Given the description of an element on the screen output the (x, y) to click on. 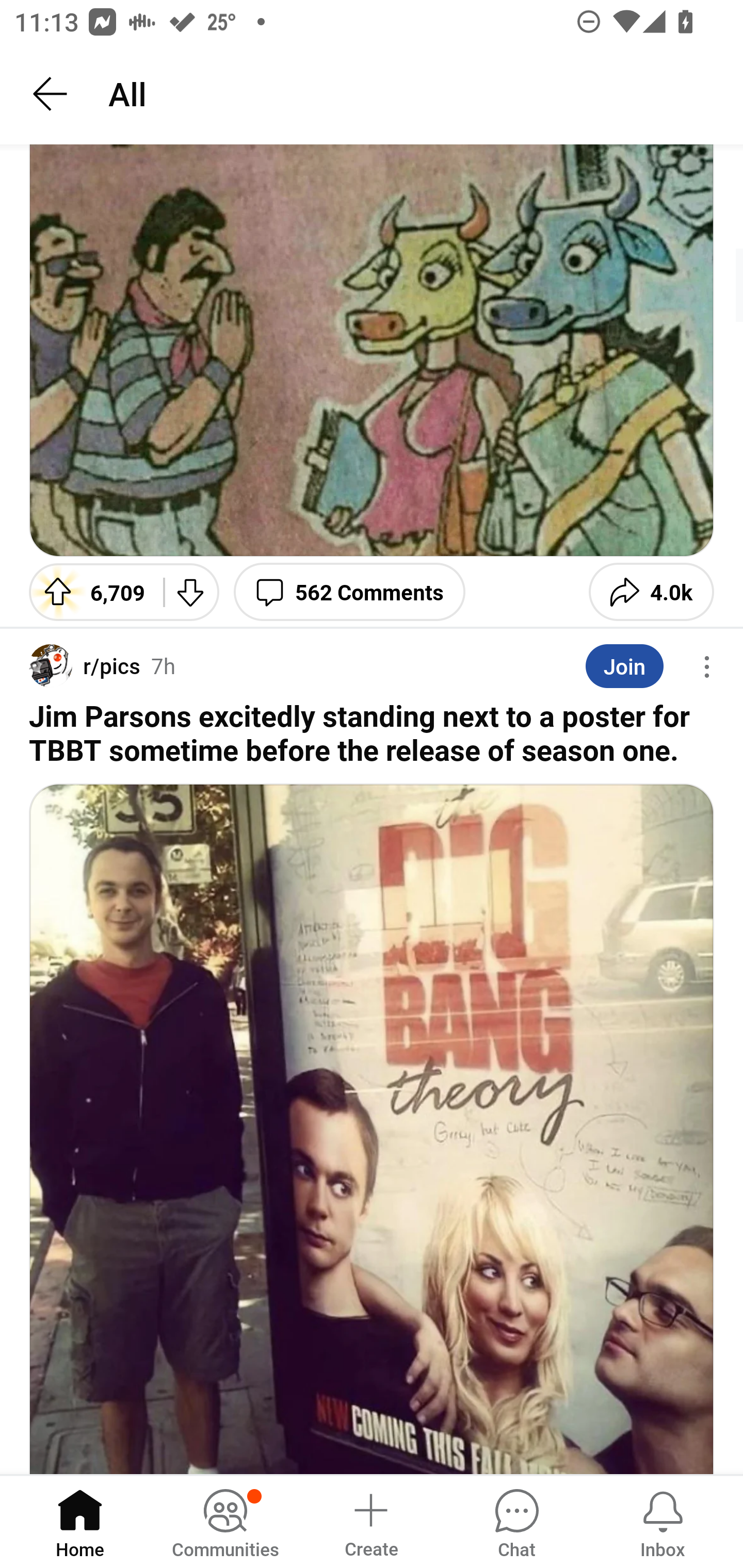
Image (371, 350)
Upvote 6,709 (88, 591)
Downvote (191, 591)
562 Comments (349, 591)
Share 4.0k (651, 591)
Avatar r/pics (84, 666)
Join (624, 665)
Overflow menu (706, 667)
Image (371, 1128)
Home (80, 1520)
Communities, has notifications Communities (225, 1520)
Create a post Create (370, 1520)
Chat (516, 1520)
Inbox (662, 1520)
